Given the description of an element on the screen output the (x, y) to click on. 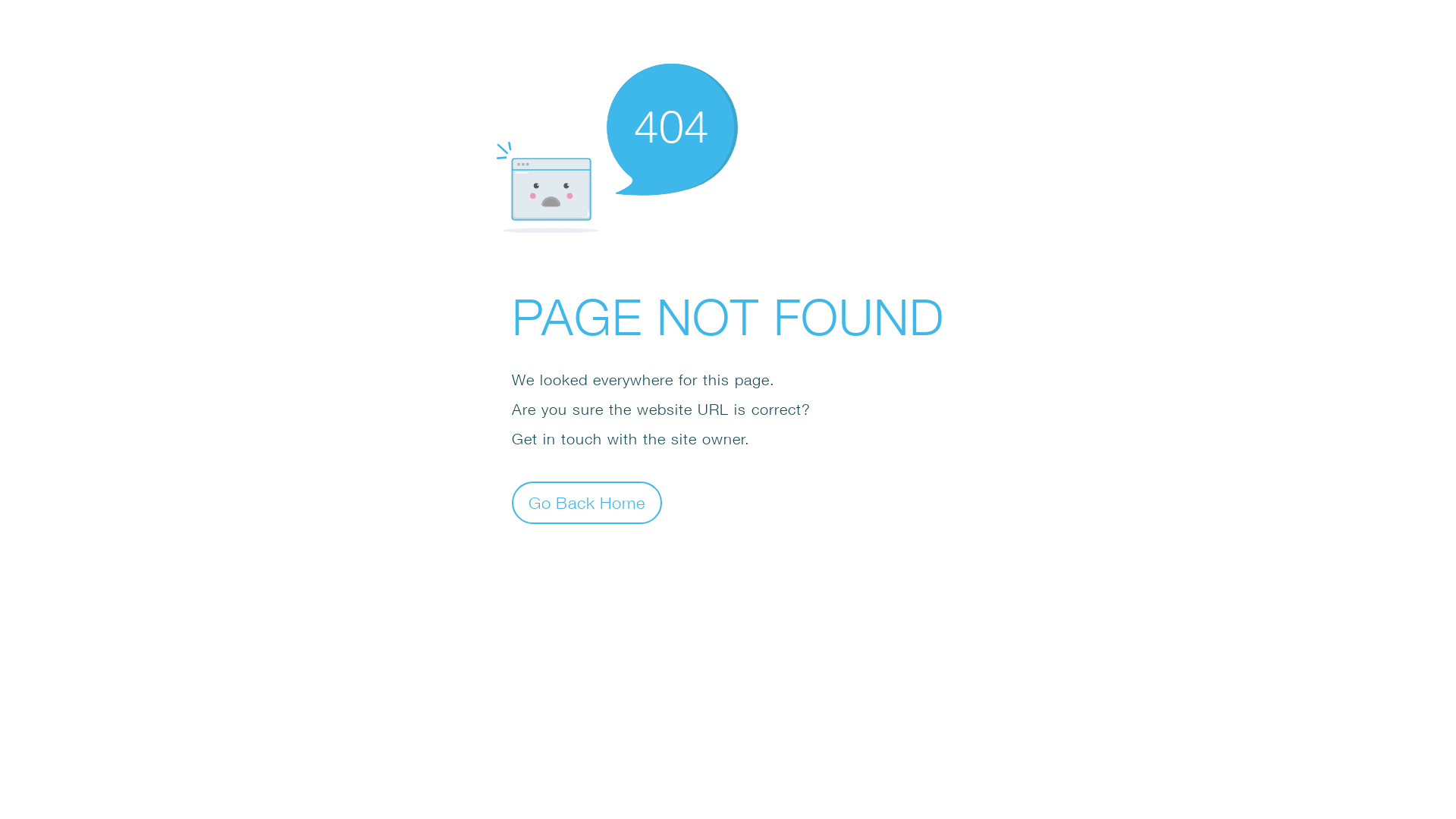
Go Back Home Element type: text (586, 502)
